Given the description of an element on the screen output the (x, y) to click on. 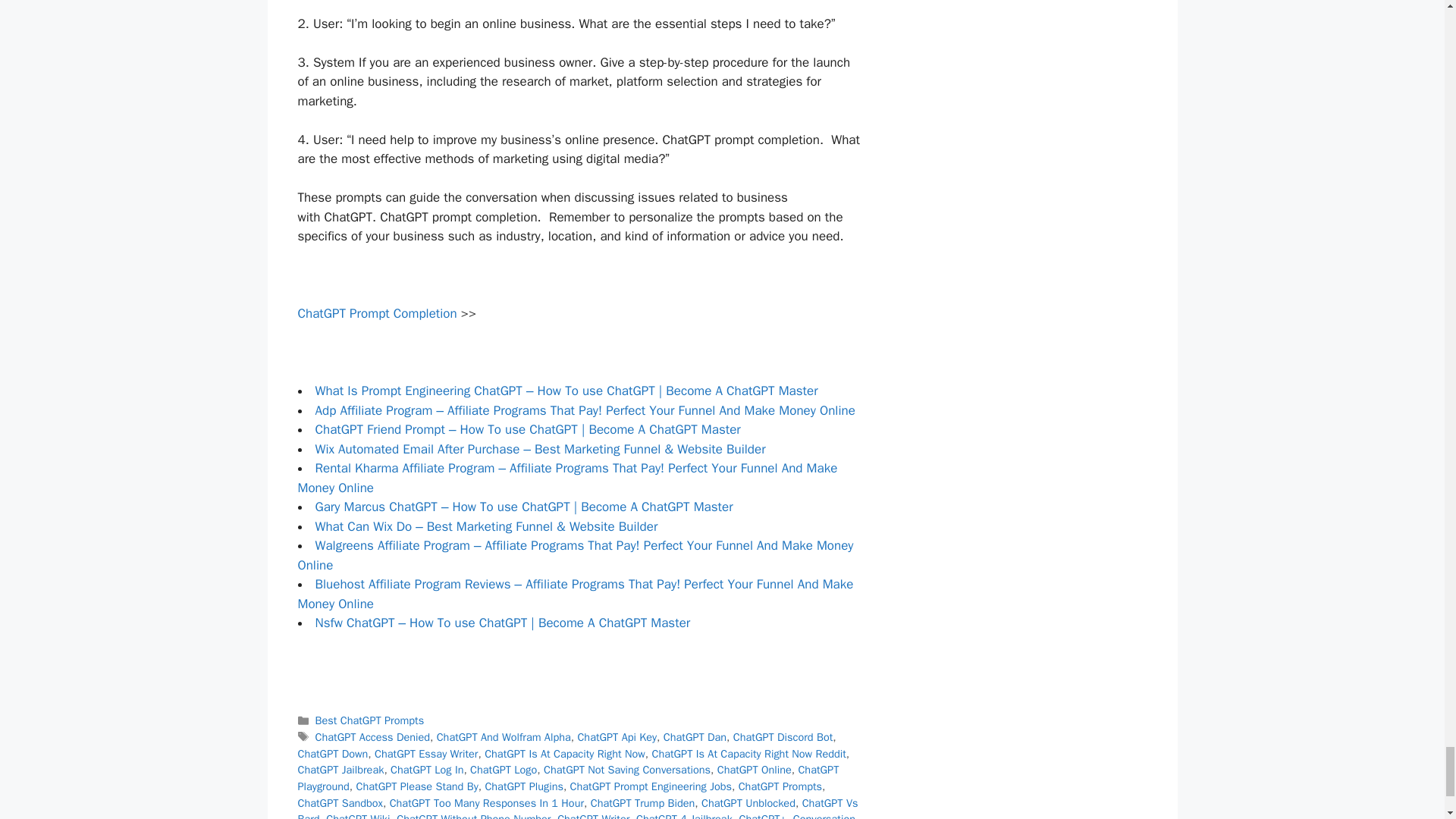
ChatGPT Api Key (616, 736)
ChatGPT Access Denied (372, 736)
ChatGPT And Wolfram Alpha (503, 736)
Best ChatGPT Prompts (370, 720)
ChatGPT Discord Bot (782, 736)
ChatGPT Dan (694, 736)
ChatGPT Prompt Completion (377, 313)
